Given the description of an element on the screen output the (x, y) to click on. 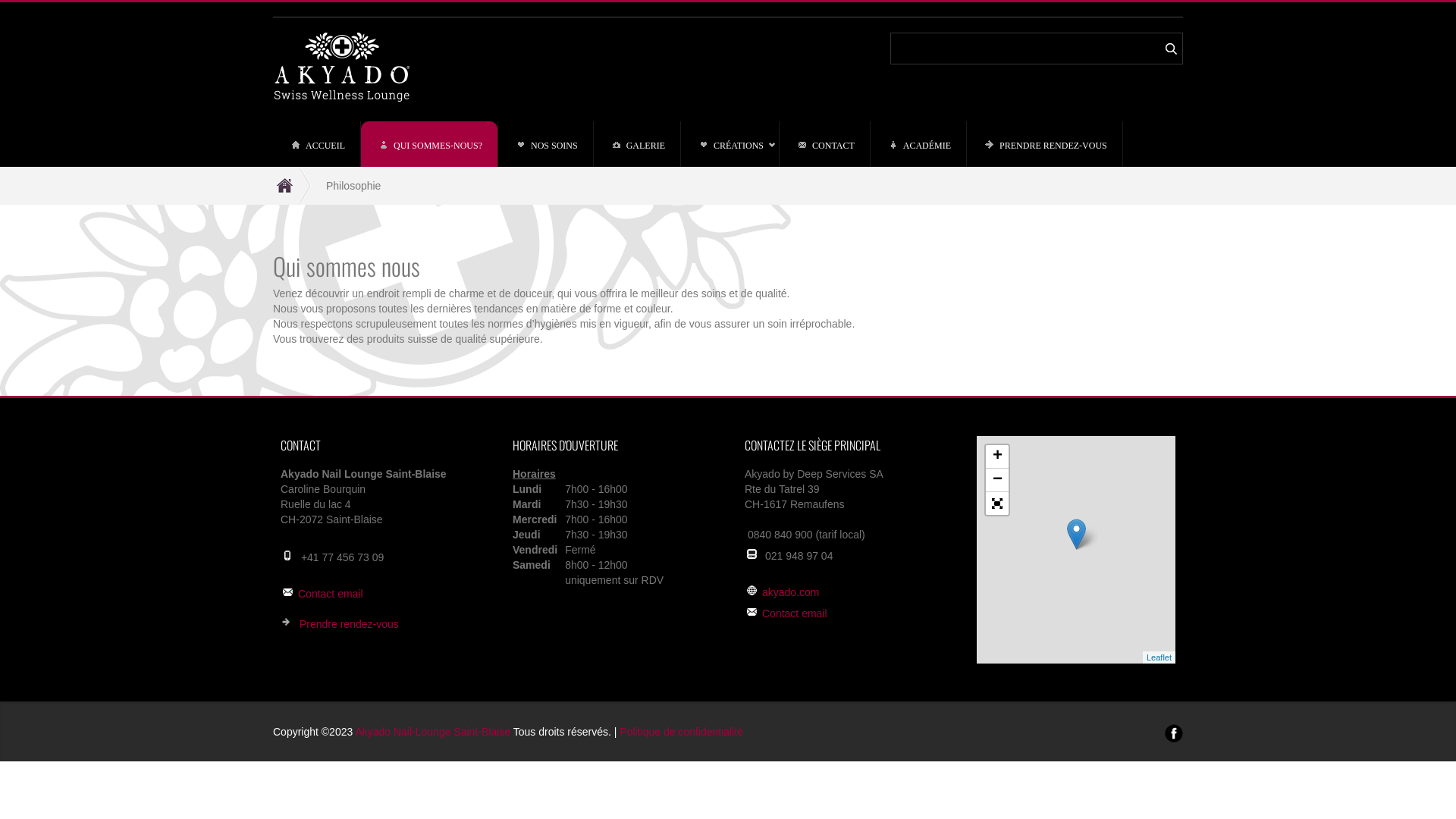
+ Element type: text (996, 456)
Leaflet Element type: text (1158, 656)
PRENDRE RENDEZ-VOUS Element type: text (1044, 143)
NOS SOINS Element type: text (545, 143)
akyado.com Element type: text (790, 592)
Akyado Nail-Lounge Saint-Blaise Element type: text (432, 731)
Contact email Element type: text (794, 613)
Accueil Element type: text (291, 185)
Contact email Element type: text (330, 593)
QUI SOMMES-NOUS? Element type: text (428, 143)
ACCUEIL Element type: text (316, 143)
Full Screen Element type: hover (996, 503)
Prendre rendez-vous Element type: text (348, 624)
GALERIE Element type: text (636, 143)
CONTACT Element type: text (824, 143)
